Given the description of an element on the screen output the (x, y) to click on. 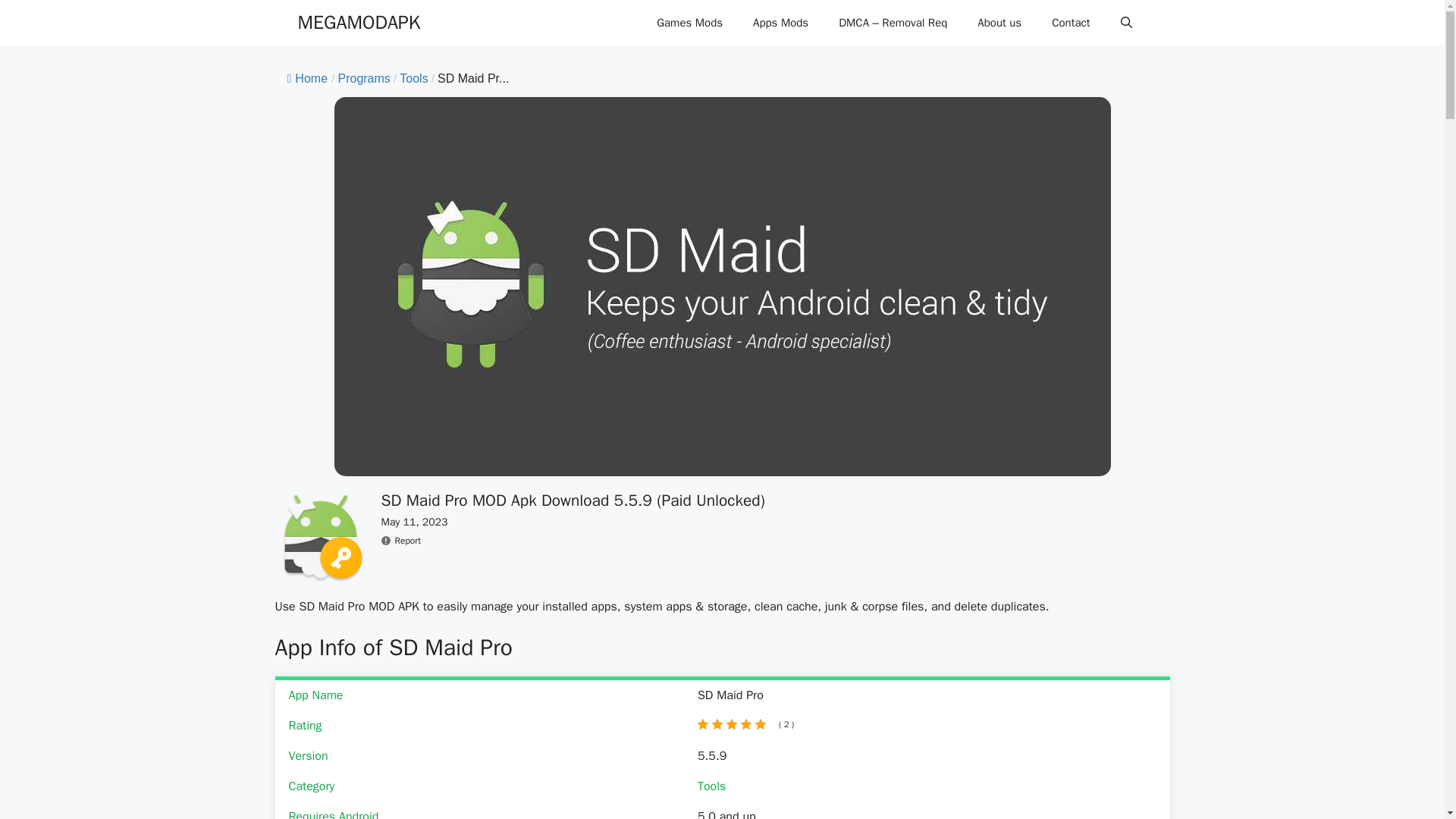
Programs (363, 78)
Tools (413, 78)
Contact (1070, 22)
MEGAMODAPK (358, 22)
Apps Mods (781, 22)
About us (999, 22)
Category Name (363, 78)
Tools (413, 78)
Games Mods (690, 22)
Home (306, 78)
Tools (711, 785)
